Given the description of an element on the screen output the (x, y) to click on. 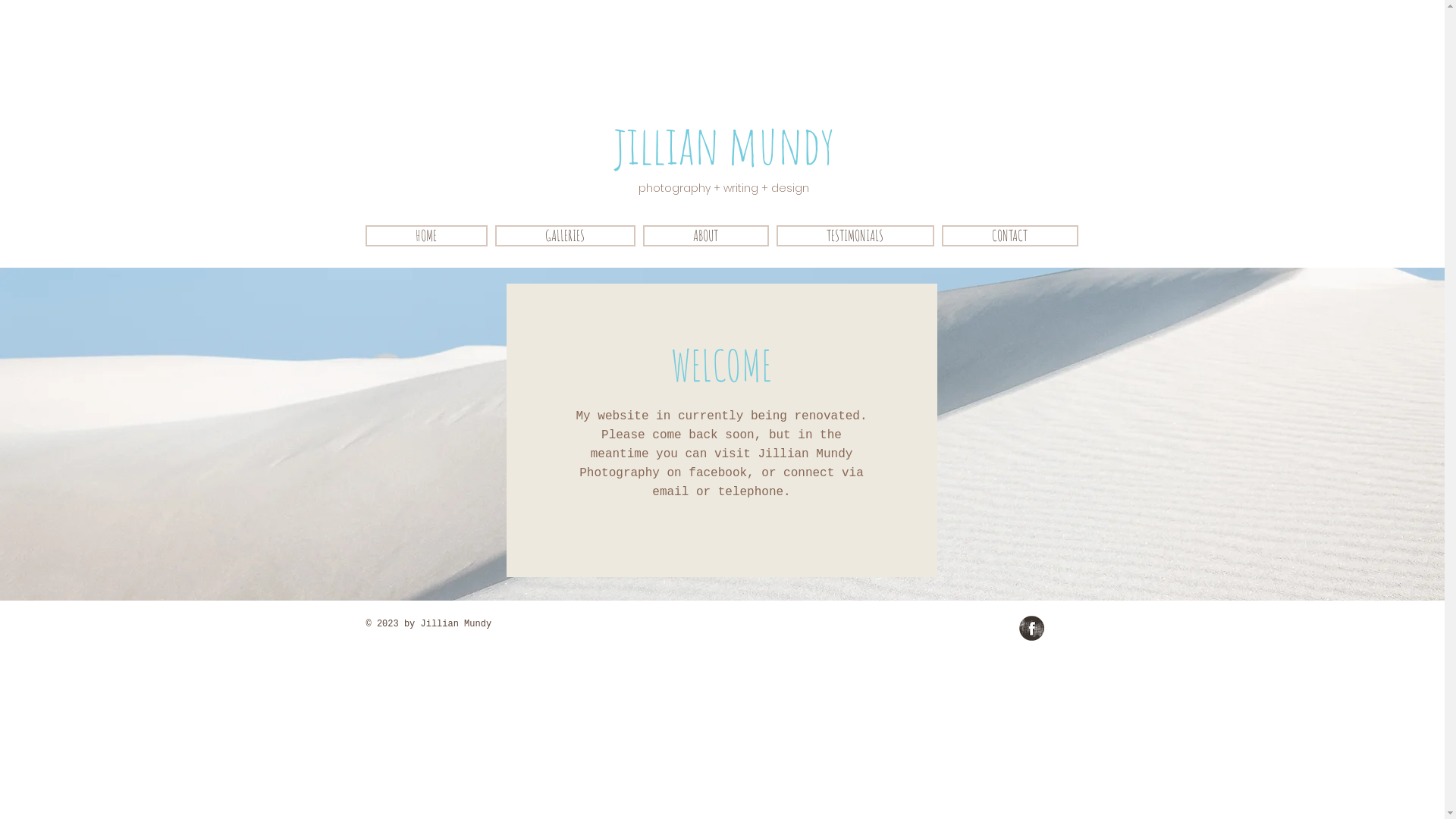
ABOUT Element type: text (705, 235)
CONTACT Element type: text (1009, 235)
HOME Element type: text (426, 235)
TESTIMONIALS Element type: text (855, 235)
GALLERIES Element type: text (564, 235)
jillian mundy Element type: text (723, 143)
